Given the description of an element on the screen output the (x, y) to click on. 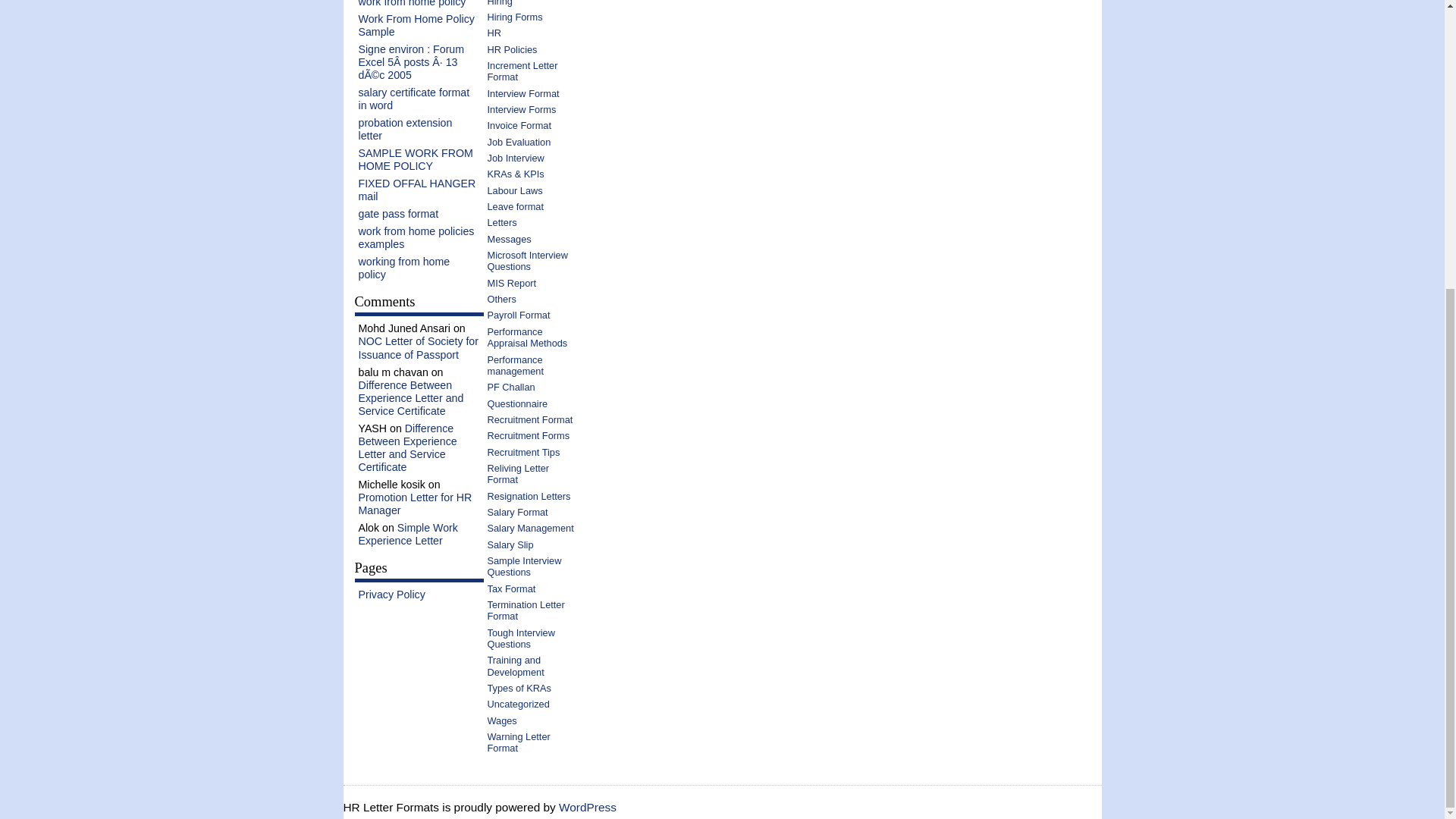
probation extension letter (404, 129)
work from home policy (411, 3)
work from home policy (411, 3)
Simple Work Experience Letter (407, 534)
working from home policy (403, 267)
gate pass format (398, 214)
SAMPLE WORK FROM HOME POLICY (414, 159)
Difference Between Experience Letter and Service Certificate (410, 397)
Promotion Letter for HR Manager (414, 503)
NOC Letter of Society for Issuance of Passport (418, 347)
FIXED OFFAL HANGER mail (417, 189)
salary certificate format in word (413, 98)
gate pass format (398, 214)
working from home policy (403, 267)
work from home policies examples (416, 237)
